Given the description of an element on the screen output the (x, y) to click on. 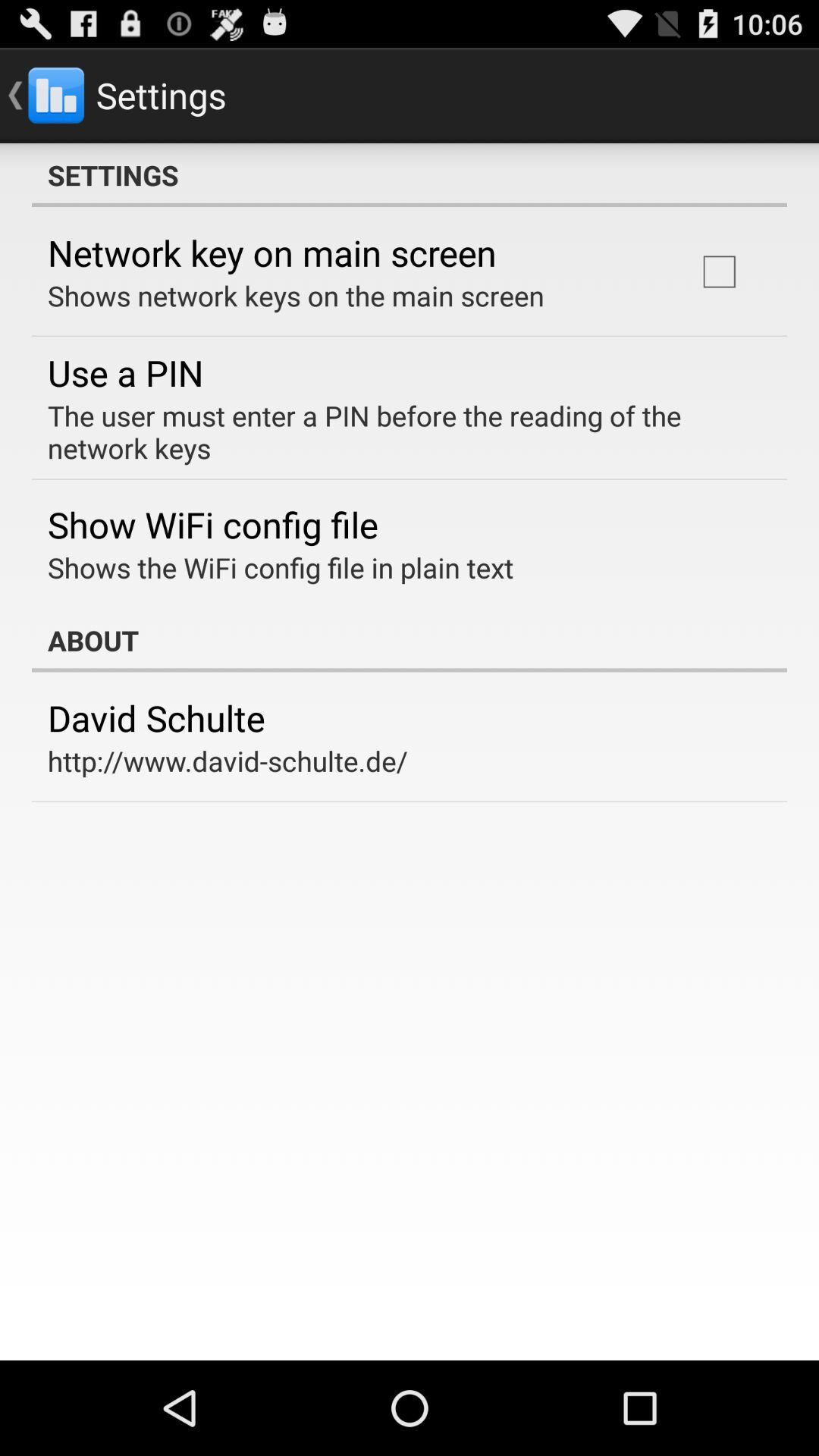
press about item (409, 640)
